Given the description of an element on the screen output the (x, y) to click on. 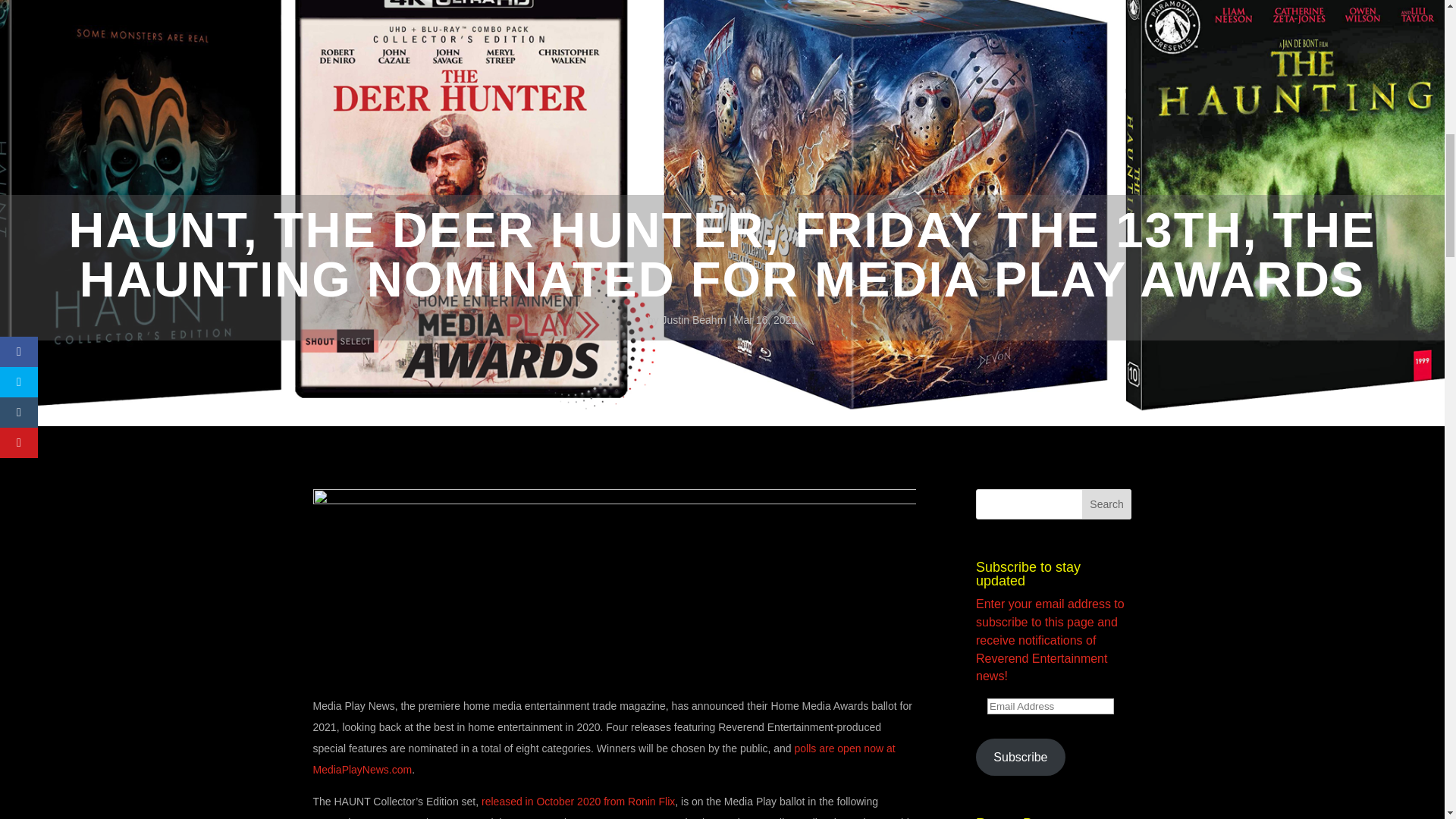
Posts by Justin Beahm (693, 319)
Justin Beahm (693, 319)
Search (1106, 503)
released in October 2020 from Ronin Flix (578, 801)
polls are open now at MediaPlayNews.com (604, 758)
